Given the description of an element on the screen output the (x, y) to click on. 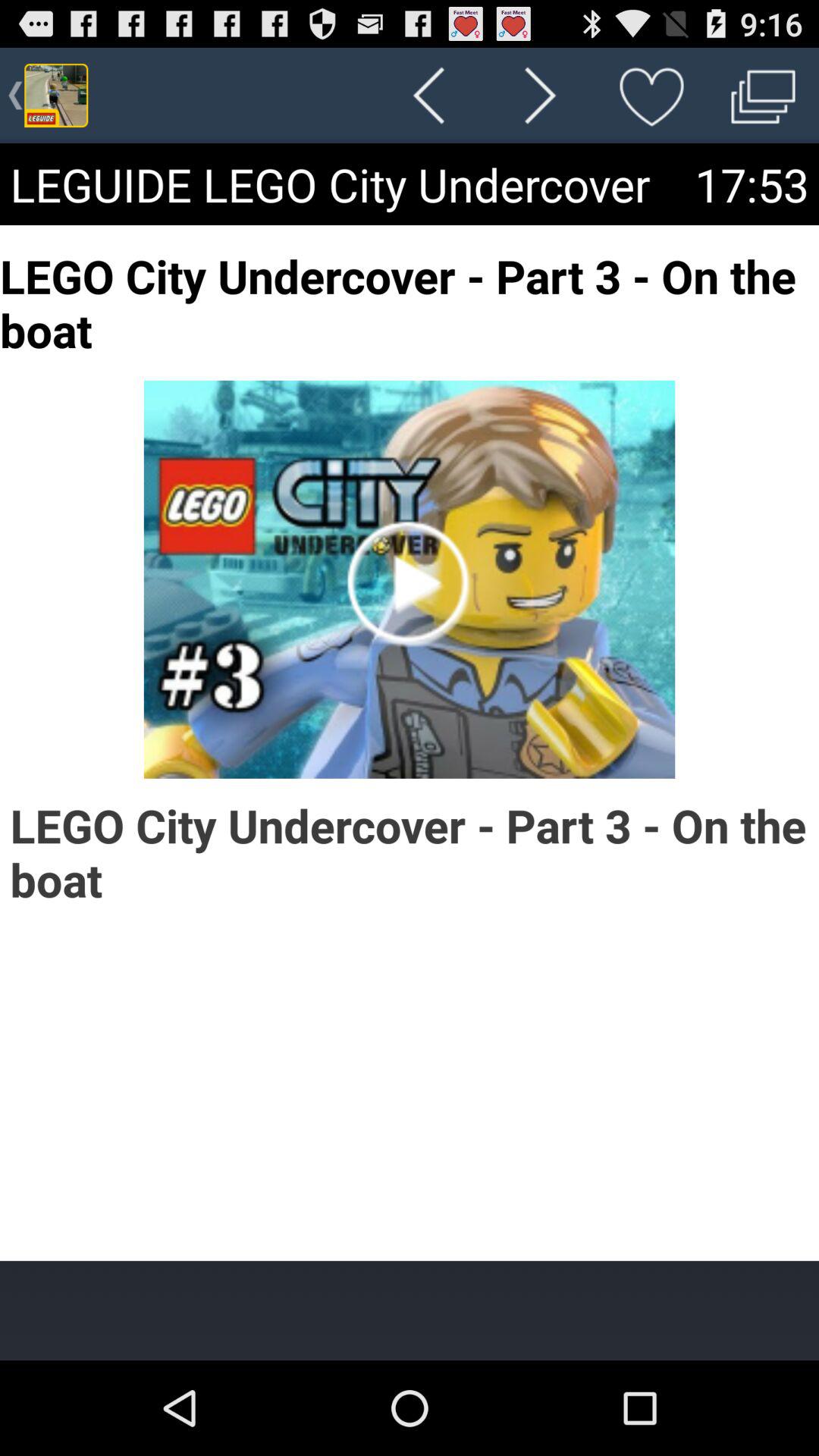
click the icon above the leguide lego city (651, 95)
